Given the description of an element on the screen output the (x, y) to click on. 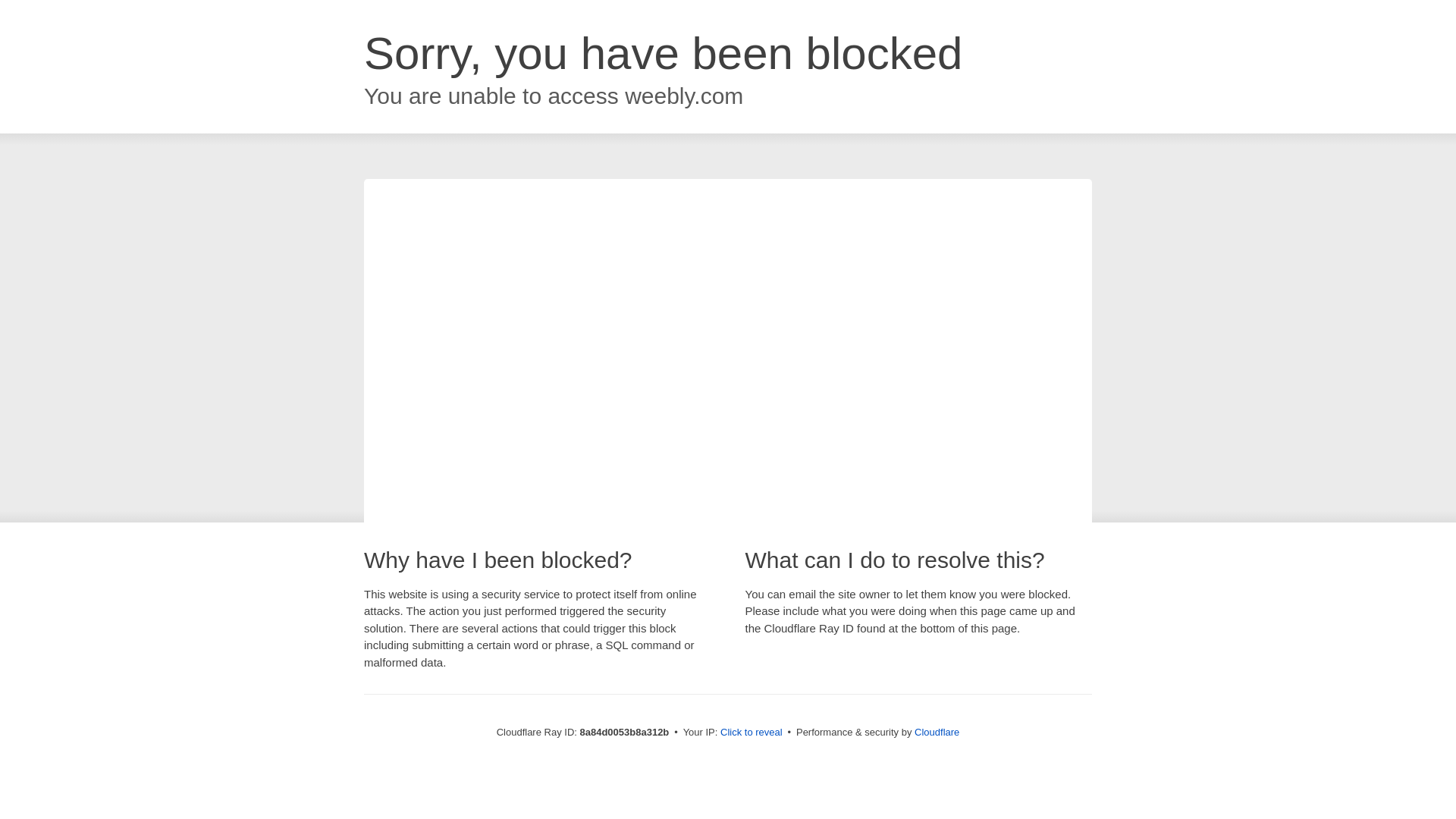
Click to reveal (751, 732)
Cloudflare (936, 731)
